Given the description of an element on the screen output the (x, y) to click on. 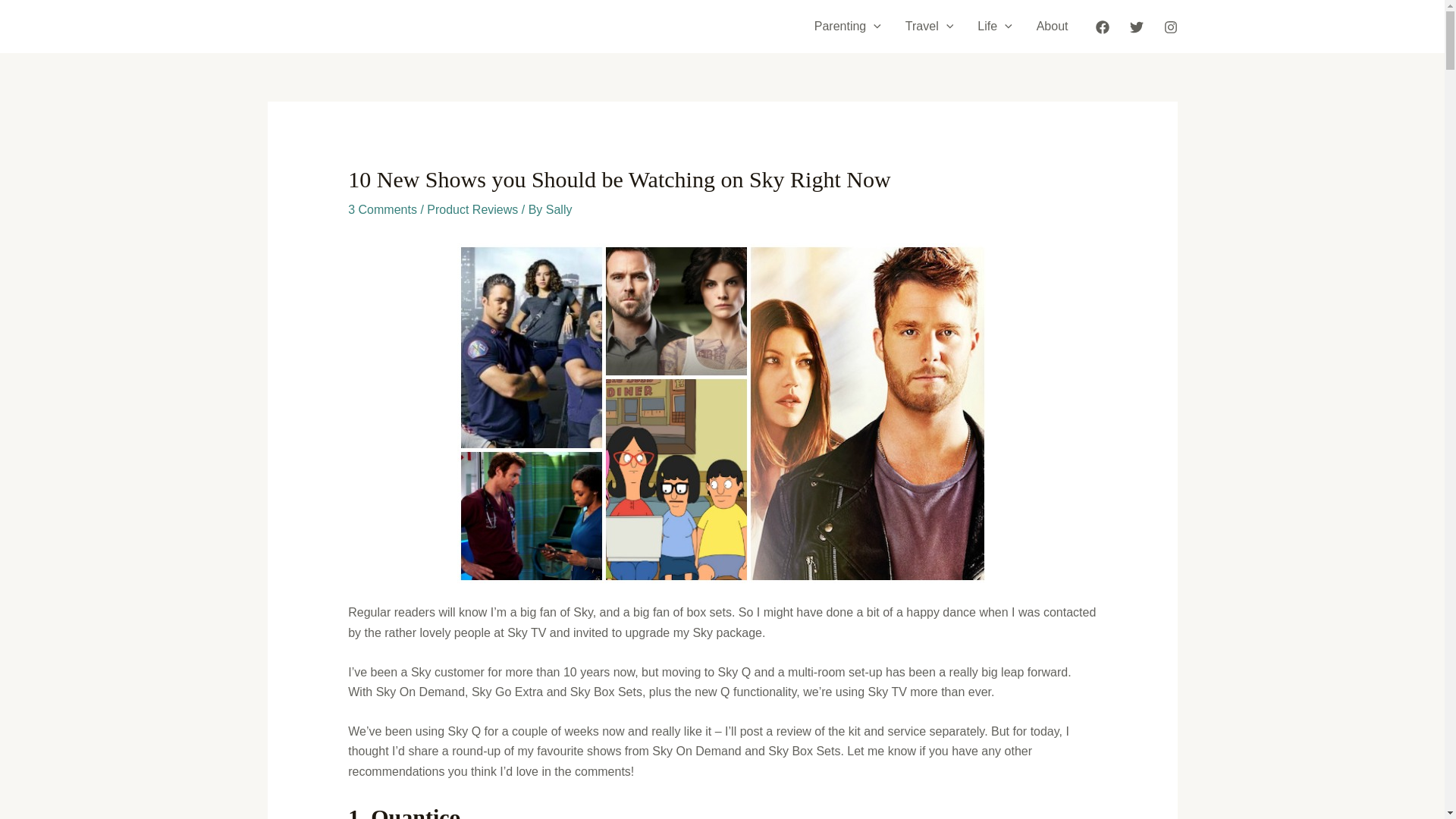
Travel (929, 26)
About (1052, 26)
Parenting (847, 26)
View all posts by Sally (559, 209)
Life (994, 26)
